Given the description of an element on the screen output the (x, y) to click on. 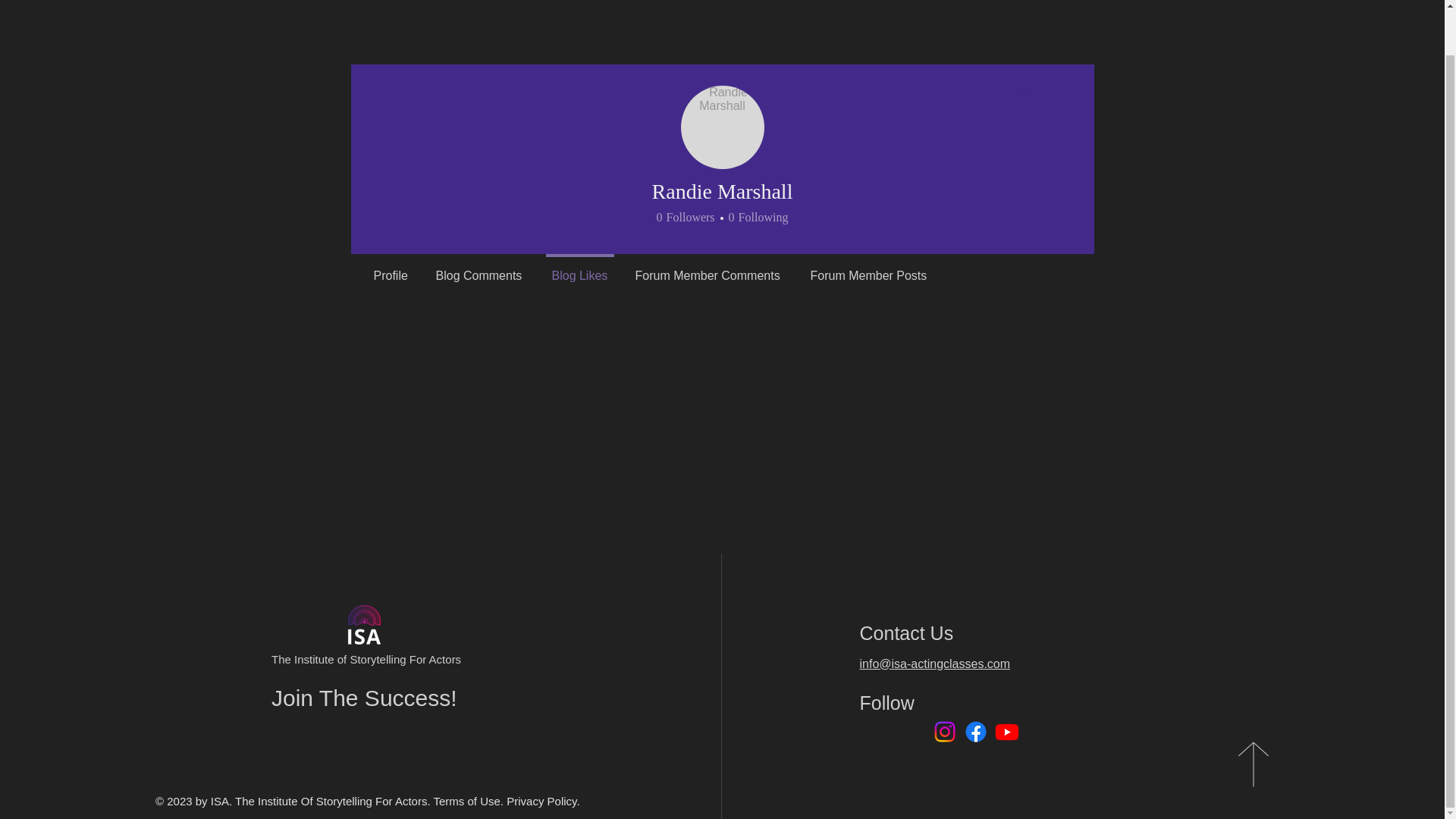
Follow (1024, 92)
Message (955, 92)
Profile (390, 268)
Randie Marshall (479, 268)
Forum Member Posts (722, 126)
Forum Member Comments (756, 217)
Blog (685, 217)
Blog Likes (868, 268)
Testimonials (708, 268)
About (939, 0)
